Given the description of an element on the screen output the (x, y) to click on. 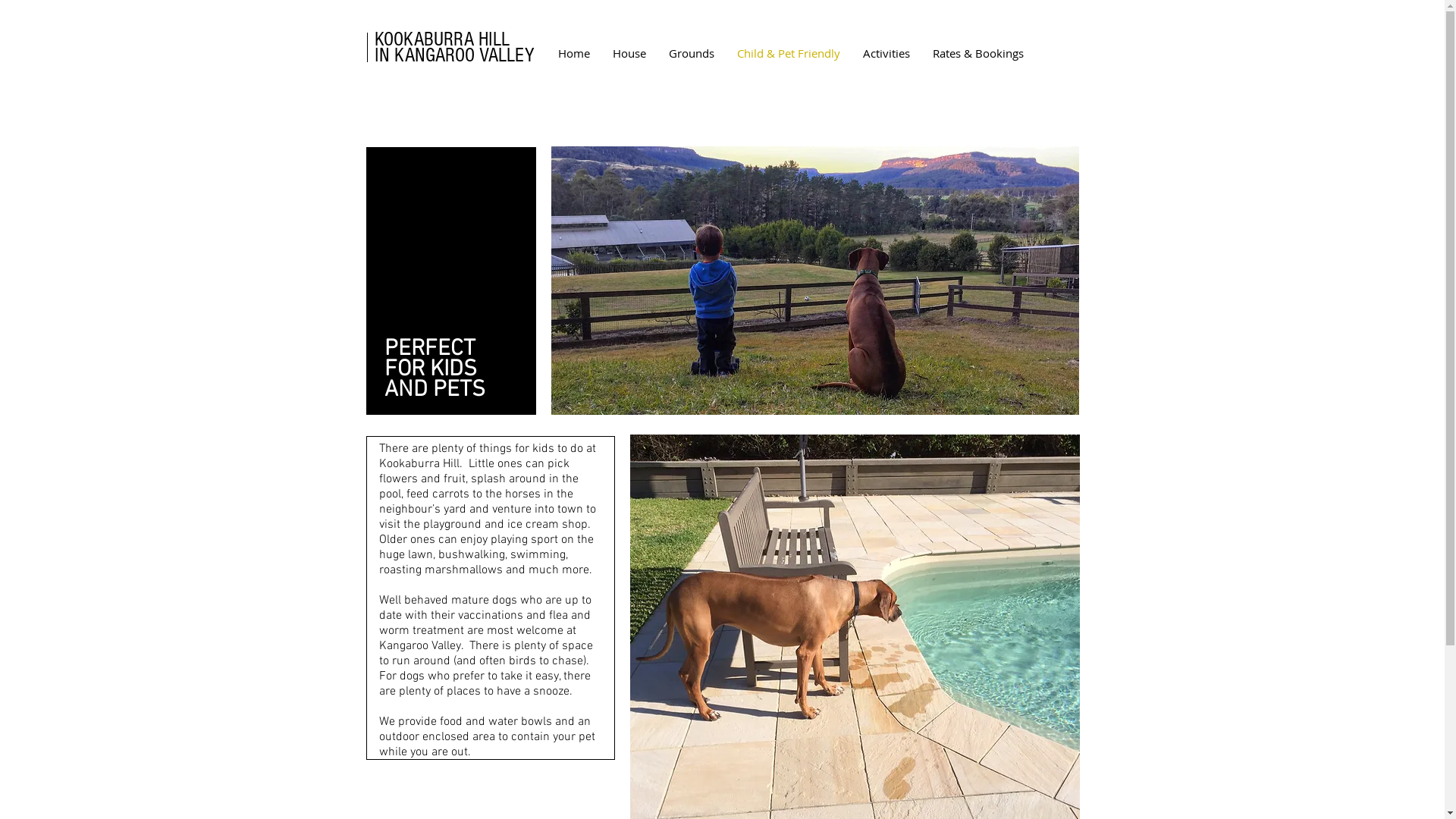
Child & Pet Friendly Element type: text (787, 52)
House Element type: text (628, 52)
Grounds Element type: text (690, 52)
Activities Element type: text (885, 52)
Rates & Bookings Element type: text (977, 52)
Home Element type: text (573, 52)
